Given the description of an element on the screen output the (x, y) to click on. 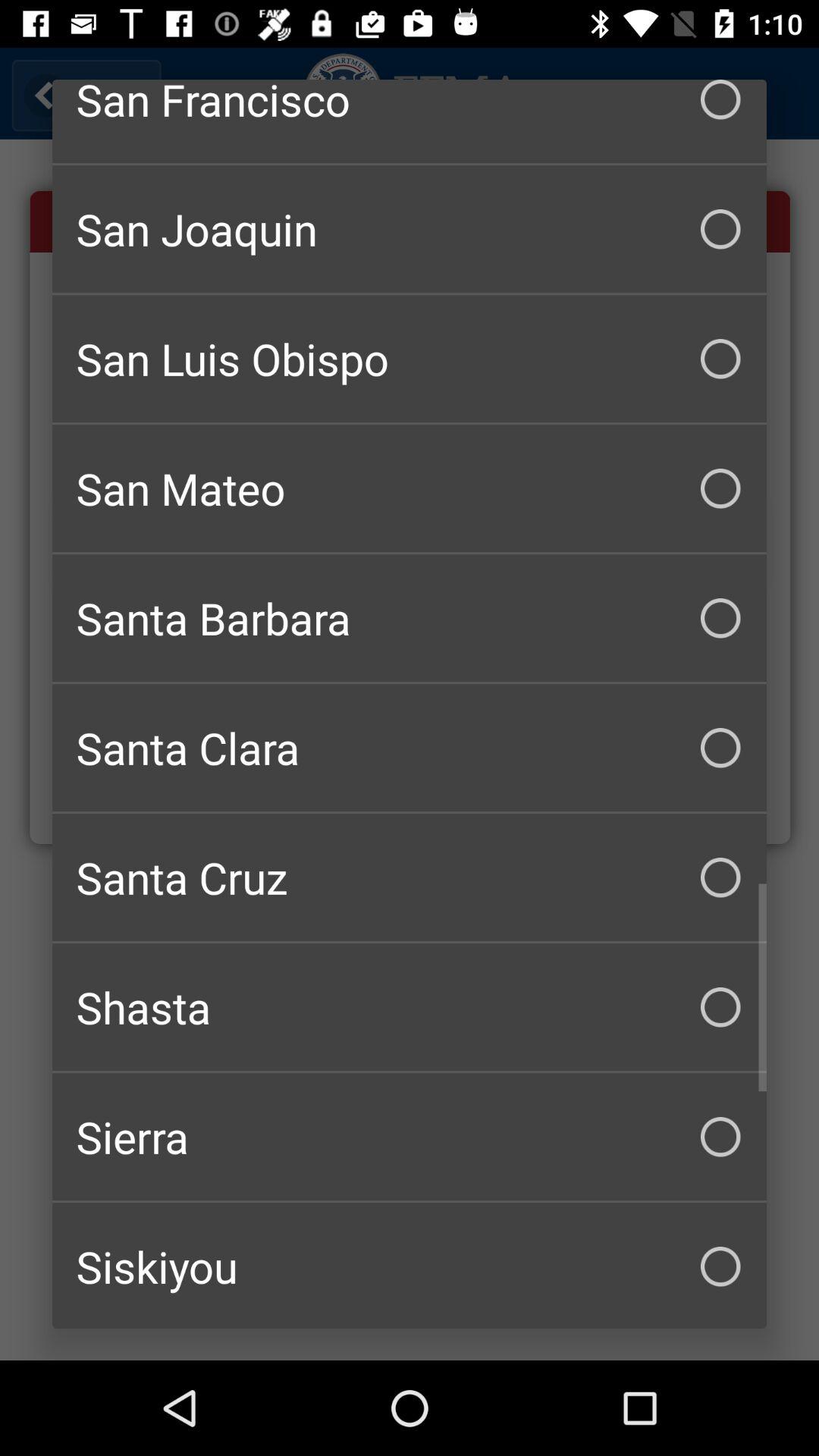
turn on santa clara icon (409, 747)
